Given the description of an element on the screen output the (x, y) to click on. 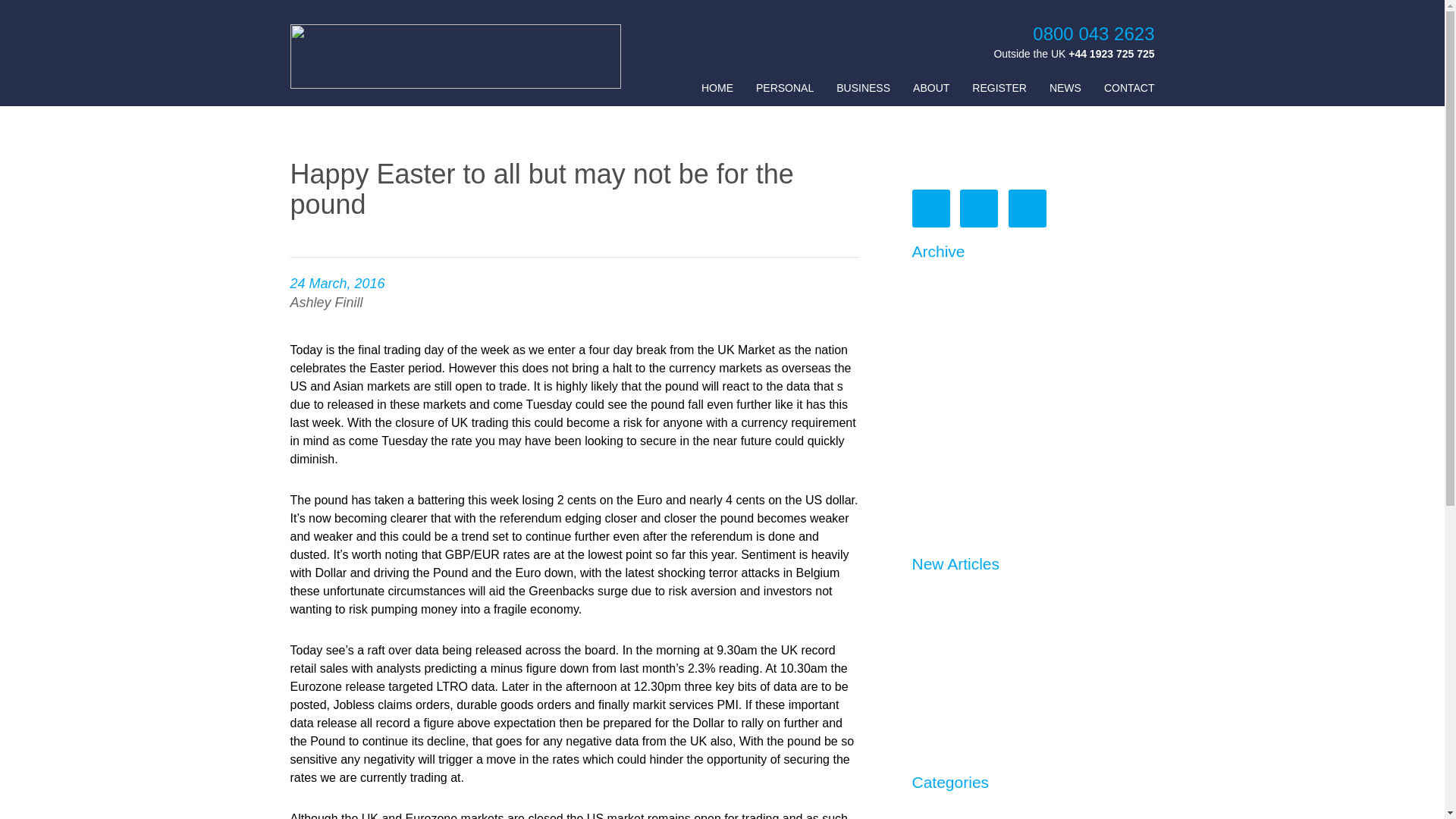
PERSONAL (784, 87)
2016 (925, 390)
REGISTER (999, 87)
2020 (925, 275)
CONTACT (1128, 87)
2018 (925, 332)
2014 (925, 447)
2012 (925, 504)
